Given the description of an element on the screen output the (x, y) to click on. 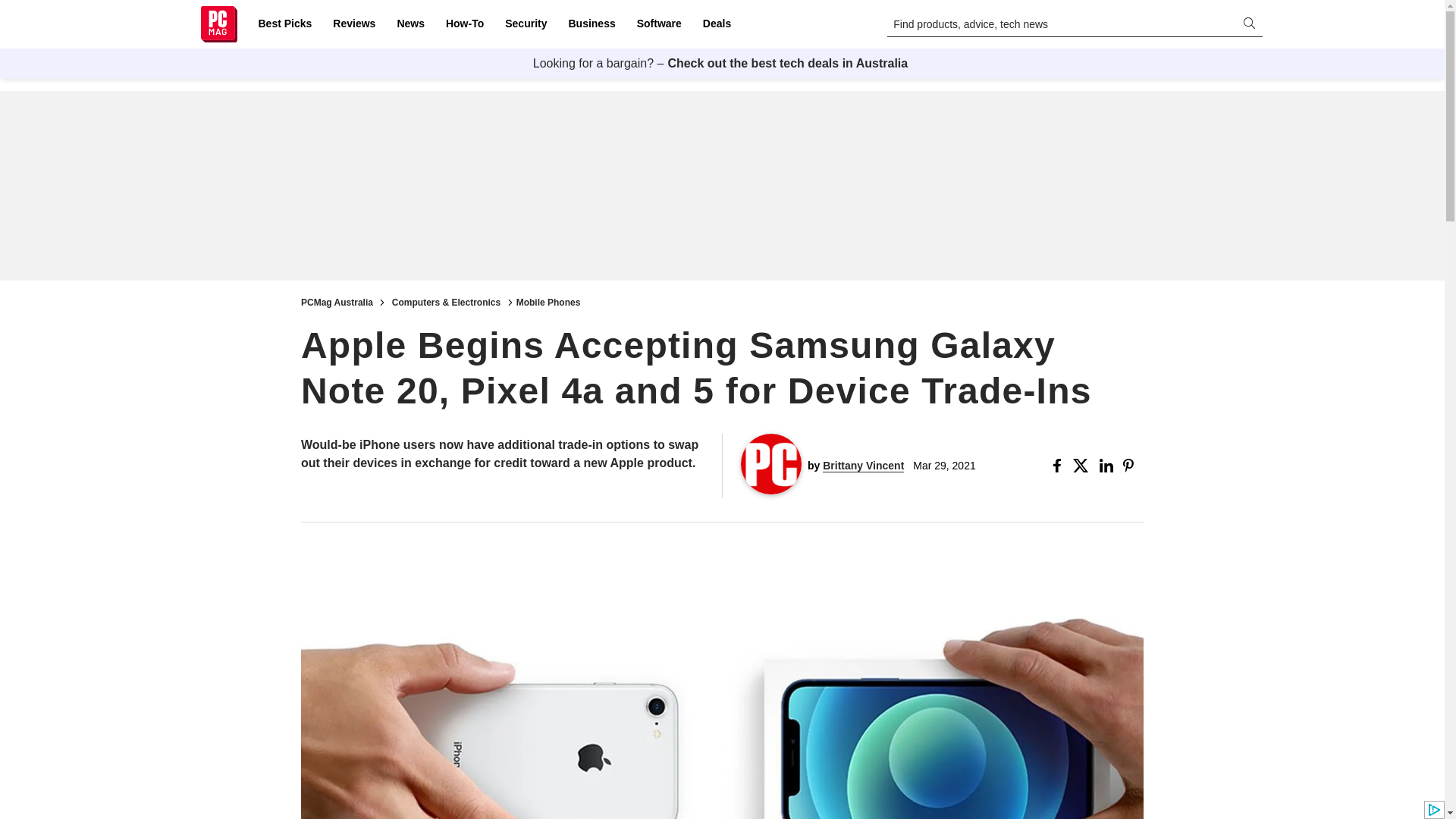
Share this Story on Linkedin (1107, 465)
Share this Story on Pinterest (1132, 465)
Share this Story on X (1083, 465)
Share this Story on Facebook (1059, 465)
Business (591, 24)
Reviews (353, 24)
Security (526, 24)
How-To (464, 24)
Best Picks (284, 24)
